Given the description of an element on the screen output the (x, y) to click on. 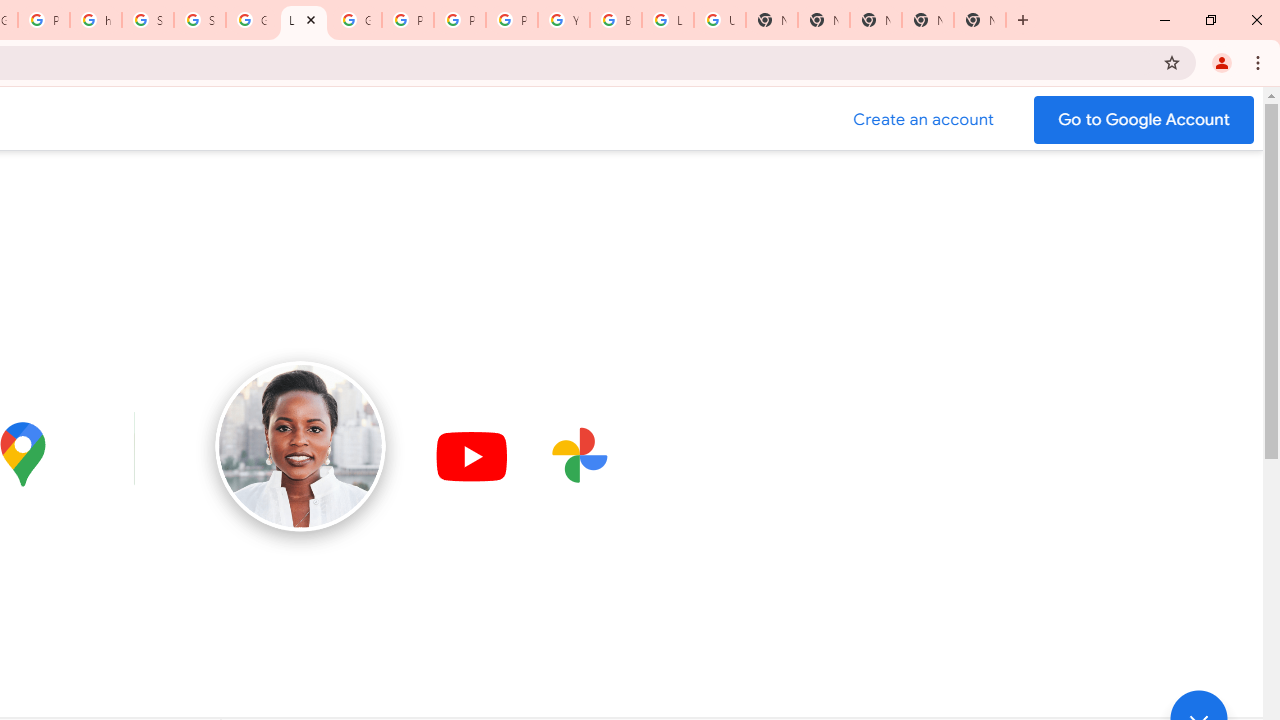
Go to your Google Account (1144, 119)
YouTube (563, 20)
Sign in - Google Accounts (200, 20)
Privacy Help Center - Policies Help (407, 20)
Privacy Help Center - Policies Help (459, 20)
